Given the description of an element on the screen output the (x, y) to click on. 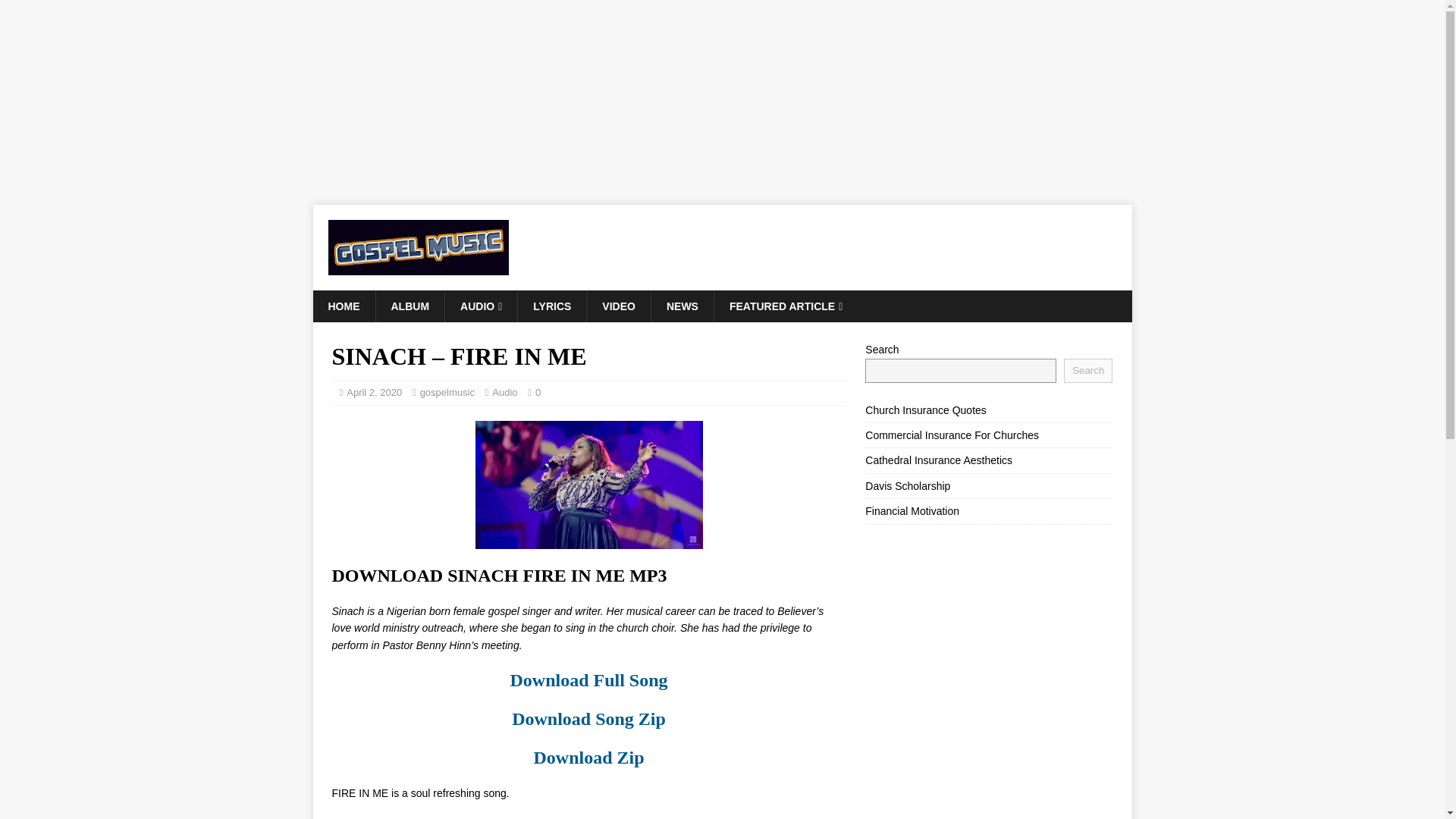
ALBUM (409, 306)
Download Zip (587, 757)
HOME (343, 306)
FEATURED ARTICLE (785, 306)
Search (1088, 370)
LYRICS (551, 306)
NEWS (681, 306)
Download Full Song (587, 680)
Commercial Insurance For Churches (951, 435)
VIDEO (618, 306)
